Given the description of an element on the screen output the (x, y) to click on. 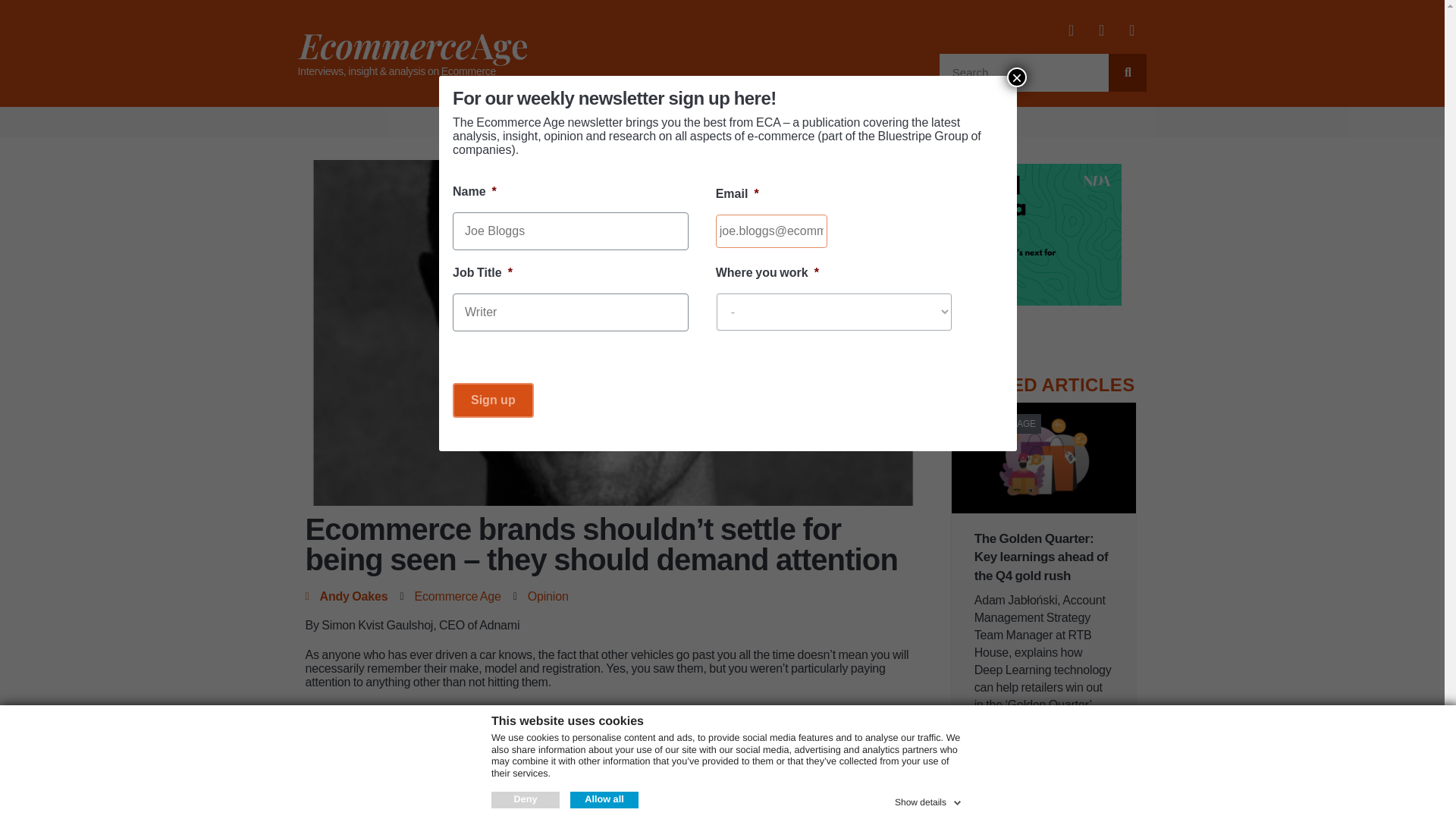
Allow all (604, 799)
Deny (525, 799)
Show details (929, 799)
Sign up (493, 400)
